Given the description of an element on the screen output the (x, y) to click on. 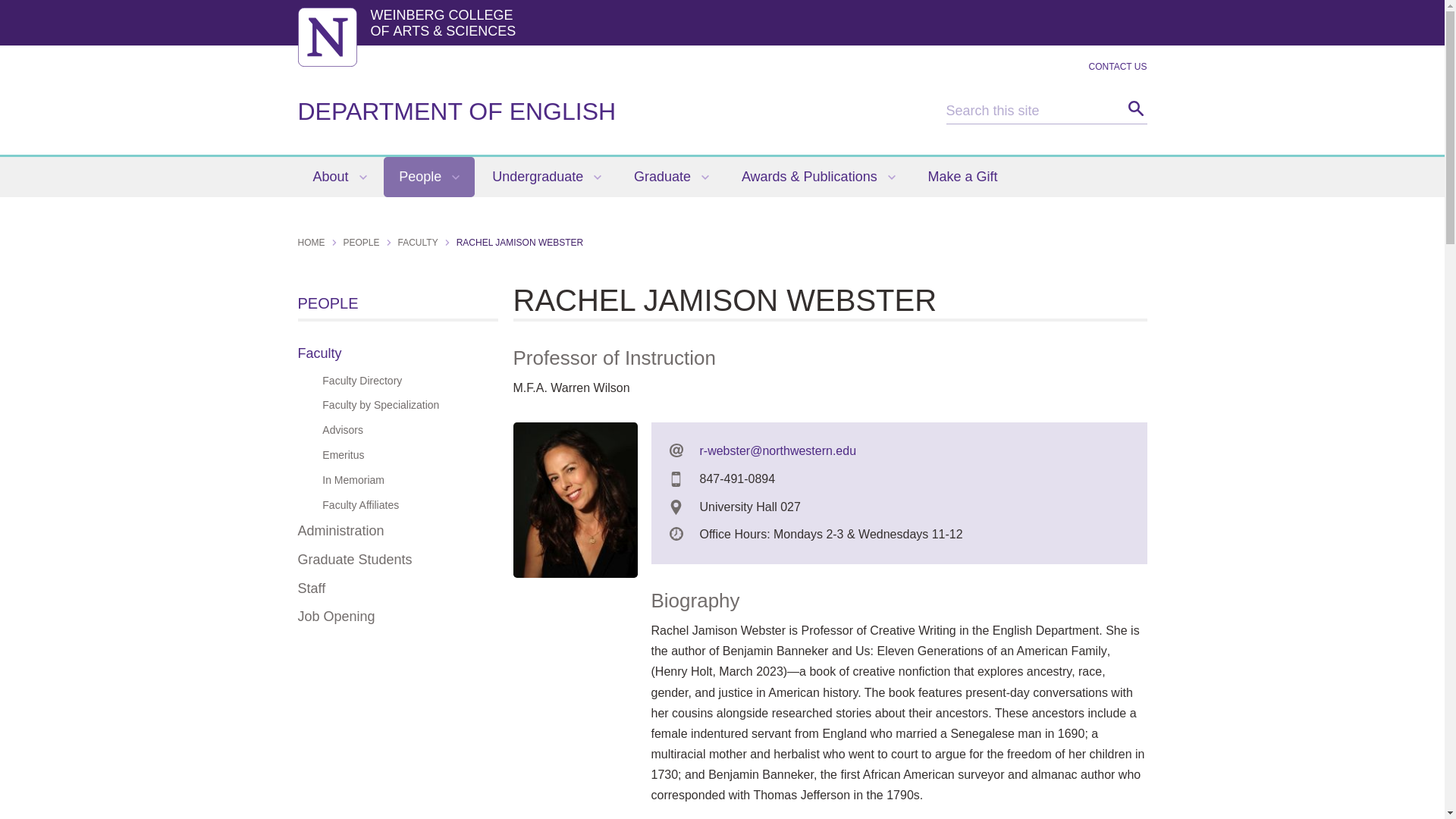
CONTACT US (1118, 66)
DEPARTMENT OF ENGLISH (456, 110)
